Given the description of an element on the screen output the (x, y) to click on. 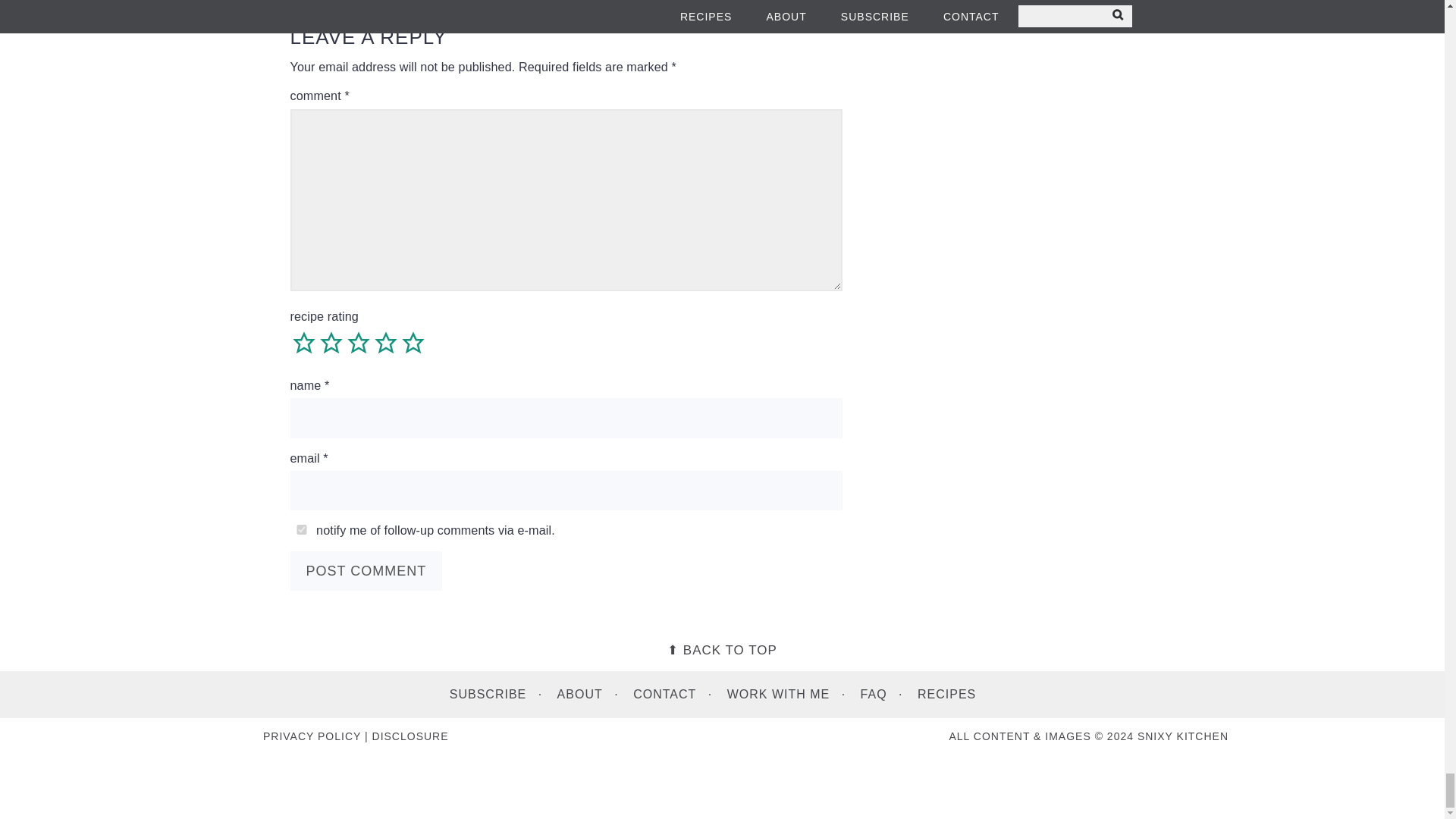
Post Comment (365, 570)
replies (301, 529)
